Given the description of an element on the screen output the (x, y) to click on. 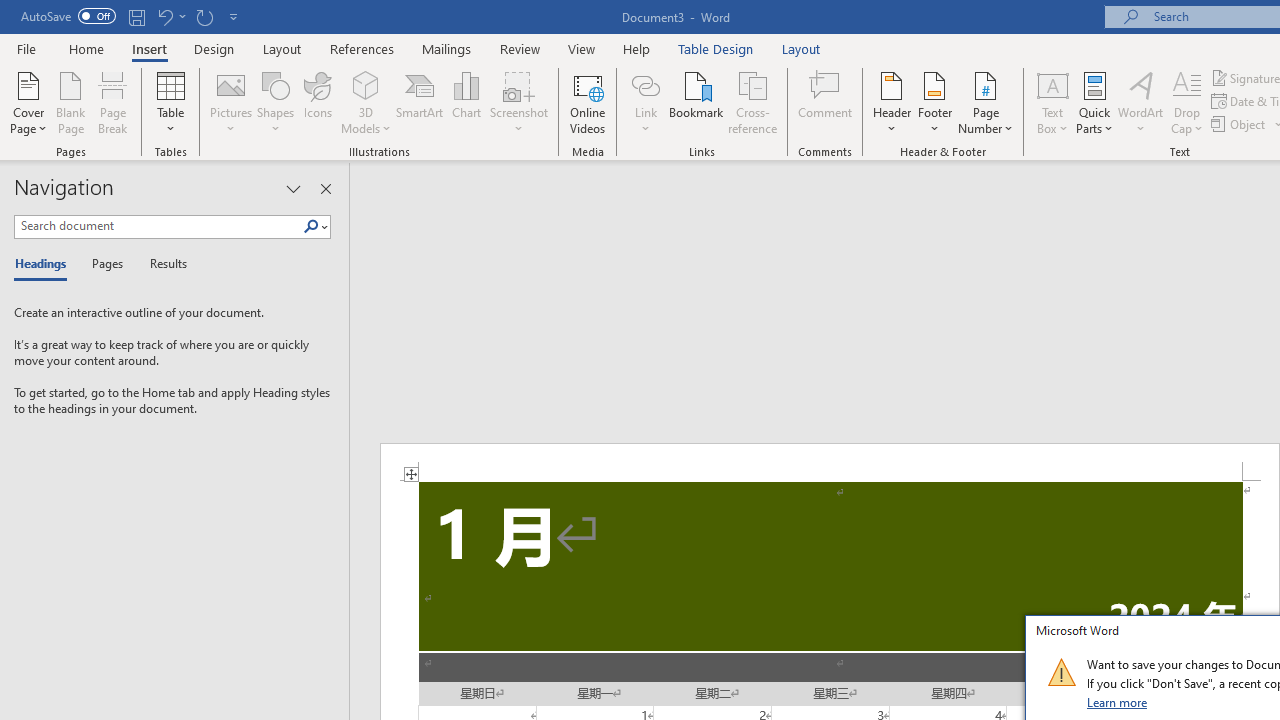
Icons (317, 102)
Footer (934, 102)
Quick Parts (1094, 102)
Cross-reference... (752, 102)
Shapes (275, 102)
Pictures (230, 102)
Blank Page (70, 102)
Cover Page (28, 102)
WordArt (1141, 102)
